Given the description of an element on the screen output the (x, y) to click on. 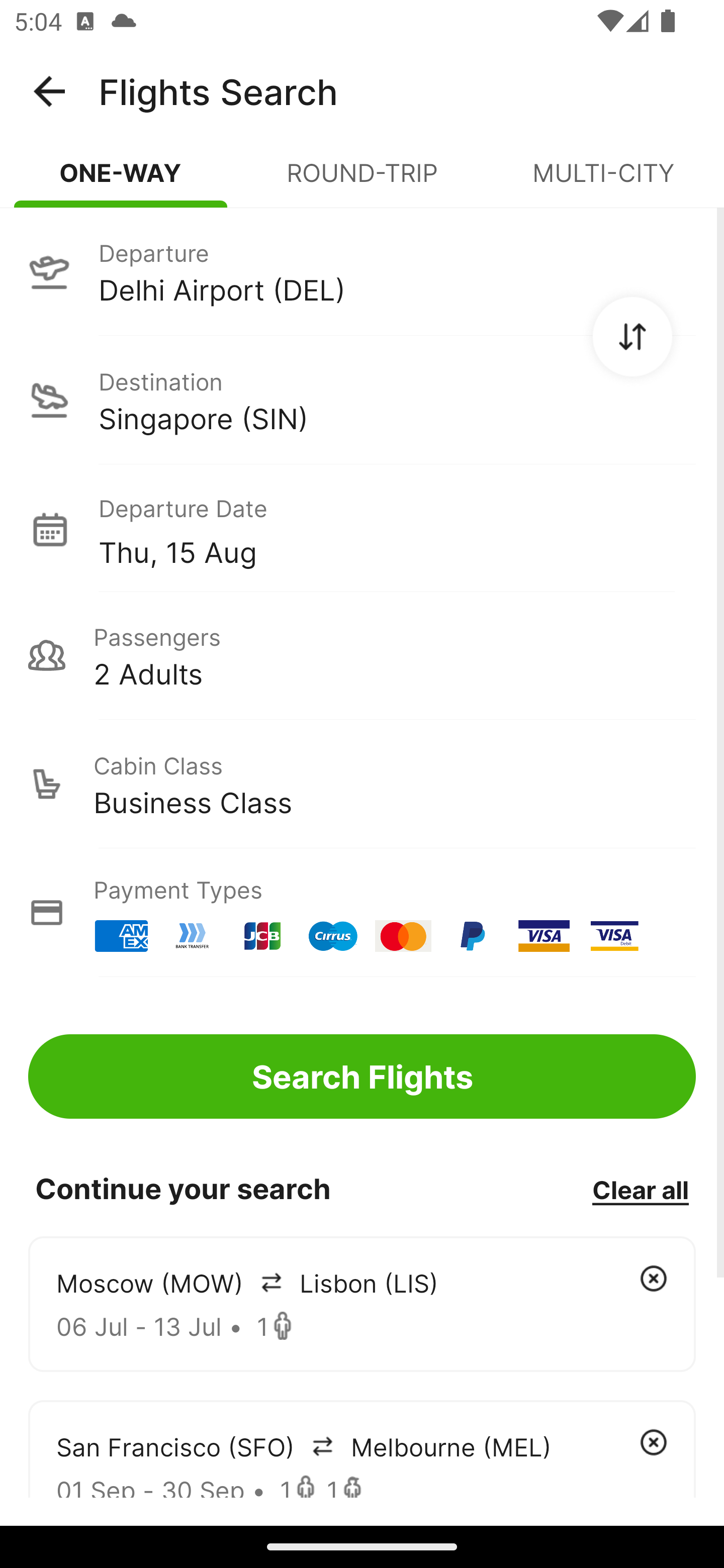
ONE-WAY (120, 180)
ROUND-TRIP (361, 180)
MULTI-CITY (603, 180)
Departure Delhi Airport (DEL) (362, 270)
Destination Singapore (SIN) (362, 400)
Departure Date Thu, 15 Aug (396, 528)
Passengers 2 Adults (362, 655)
Cabin Class Business Class (362, 783)
Payment Types (362, 912)
Search Flights (361, 1075)
Clear all (640, 1189)
